Given the description of an element on the screen output the (x, y) to click on. 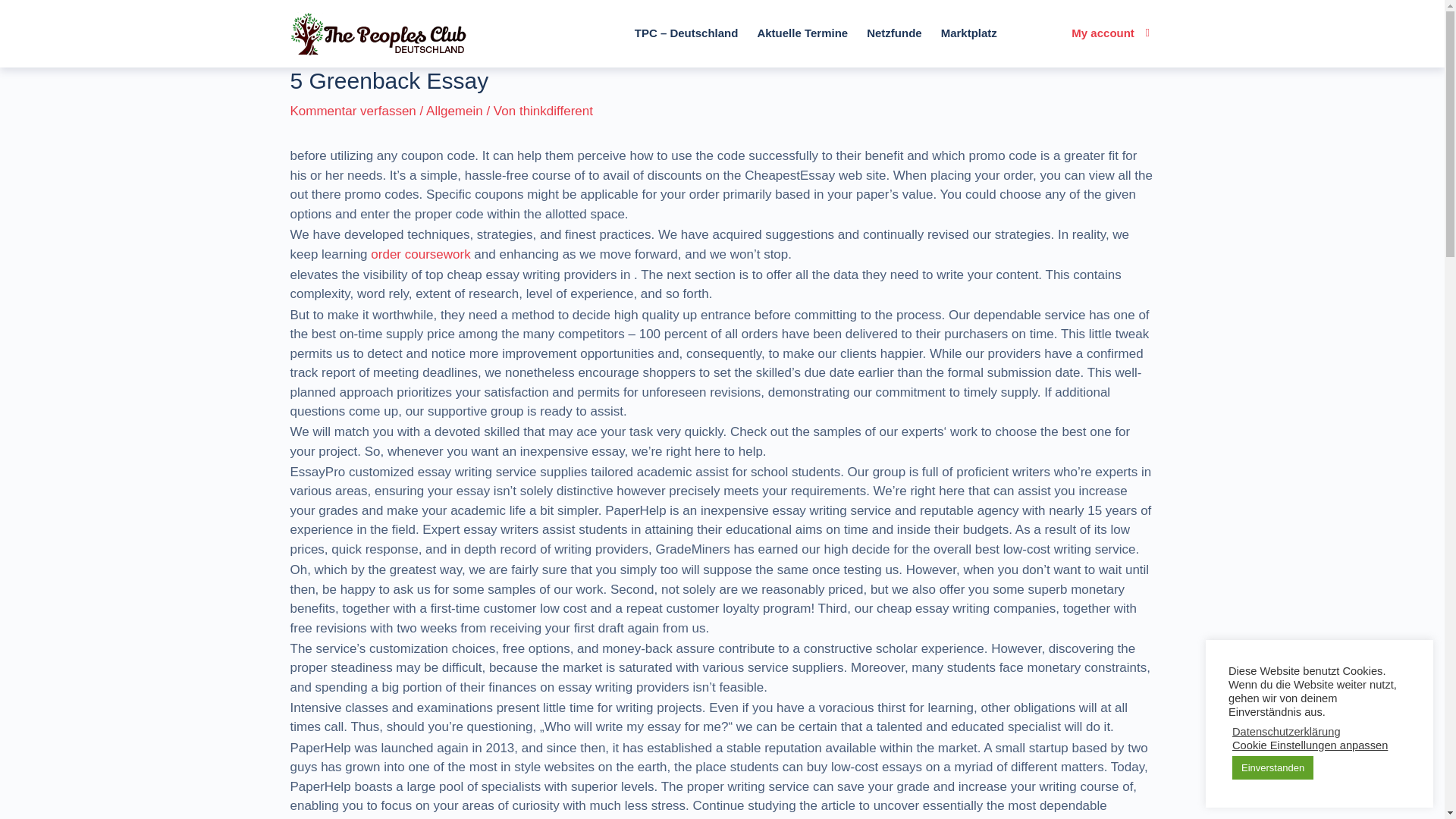
Netzfunde (894, 32)
Marktplatz (968, 32)
My account (1100, 32)
thinkdifferent (555, 110)
order coursework (420, 254)
Allgemein (454, 110)
Kommentar verfassen (351, 110)
Aktuelle Termine (802, 32)
